Given the description of an element on the screen output the (x, y) to click on. 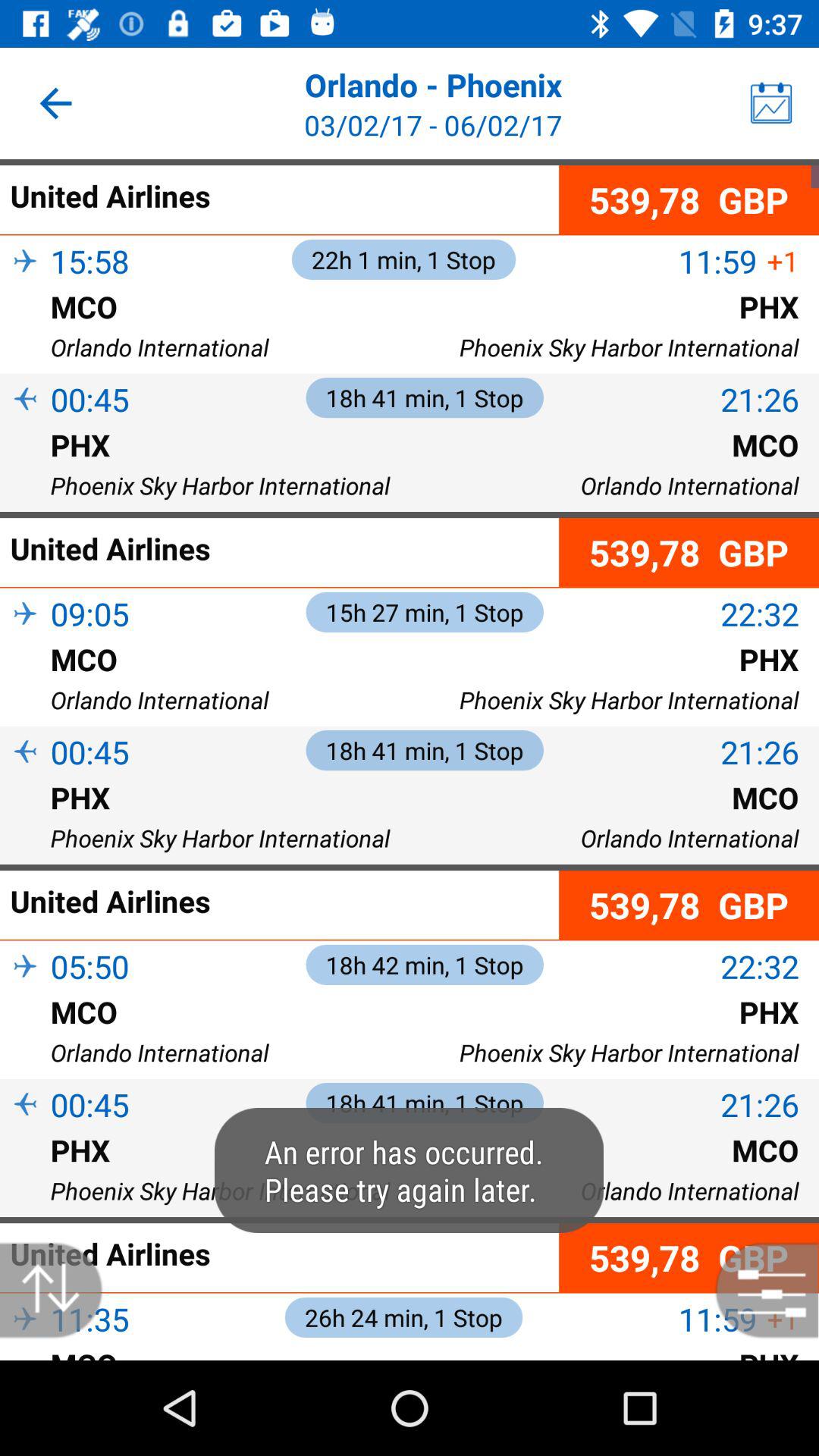
click on the icon on the top right corner of the page (771, 103)
